Given the description of an element on the screen output the (x, y) to click on. 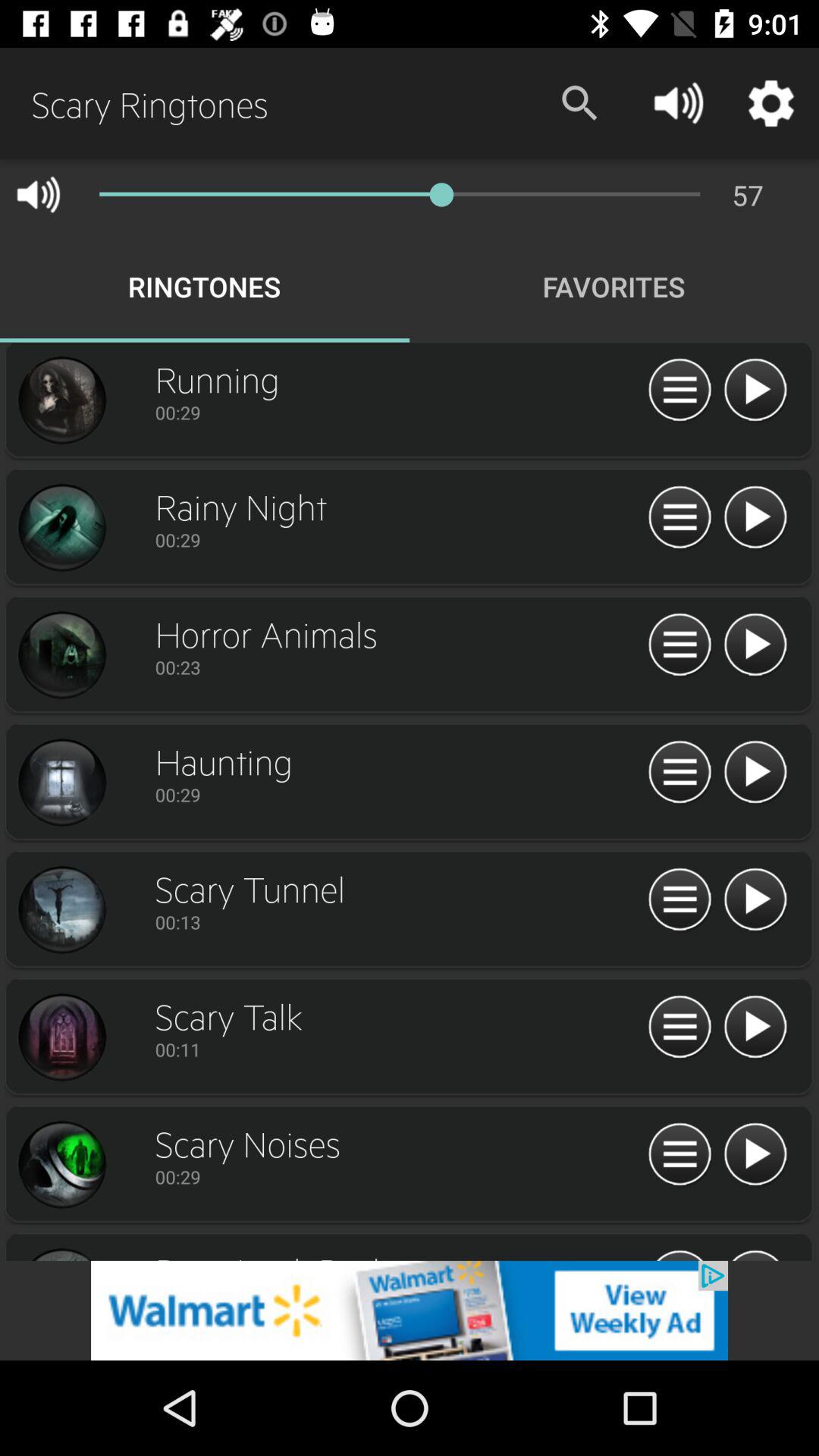
menu option (679, 900)
